Given the description of an element on the screen output the (x, y) to click on. 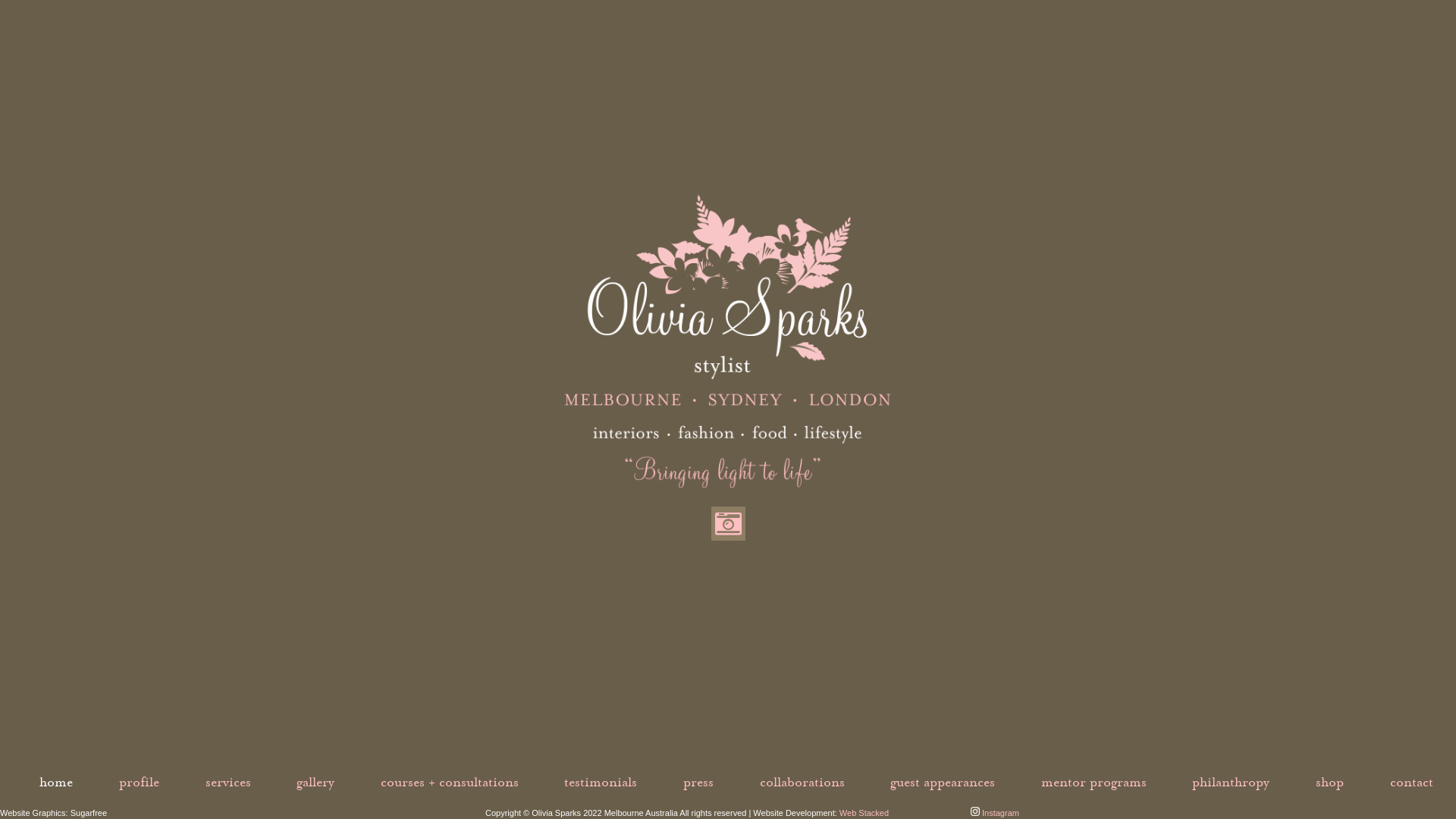
services Element type: text (228, 781)
gallery Element type: text (315, 781)
Web Stacked Element type: text (863, 812)
philanthropy Element type: text (1230, 781)
press Element type: text (698, 781)
Sugarfree Element type: text (88, 812)
home Element type: text (55, 781)
testimonials Element type: text (600, 781)
courses + consultations Element type: text (449, 781)
collaborations Element type: text (801, 781)
Instagram Element type: text (994, 812)
guest appearances Element type: text (942, 781)
shop Element type: text (1329, 781)
contact Element type: text (1411, 781)
mentor programs Element type: text (1093, 781)
profile Element type: text (139, 781)
